Given the description of an element on the screen output the (x, y) to click on. 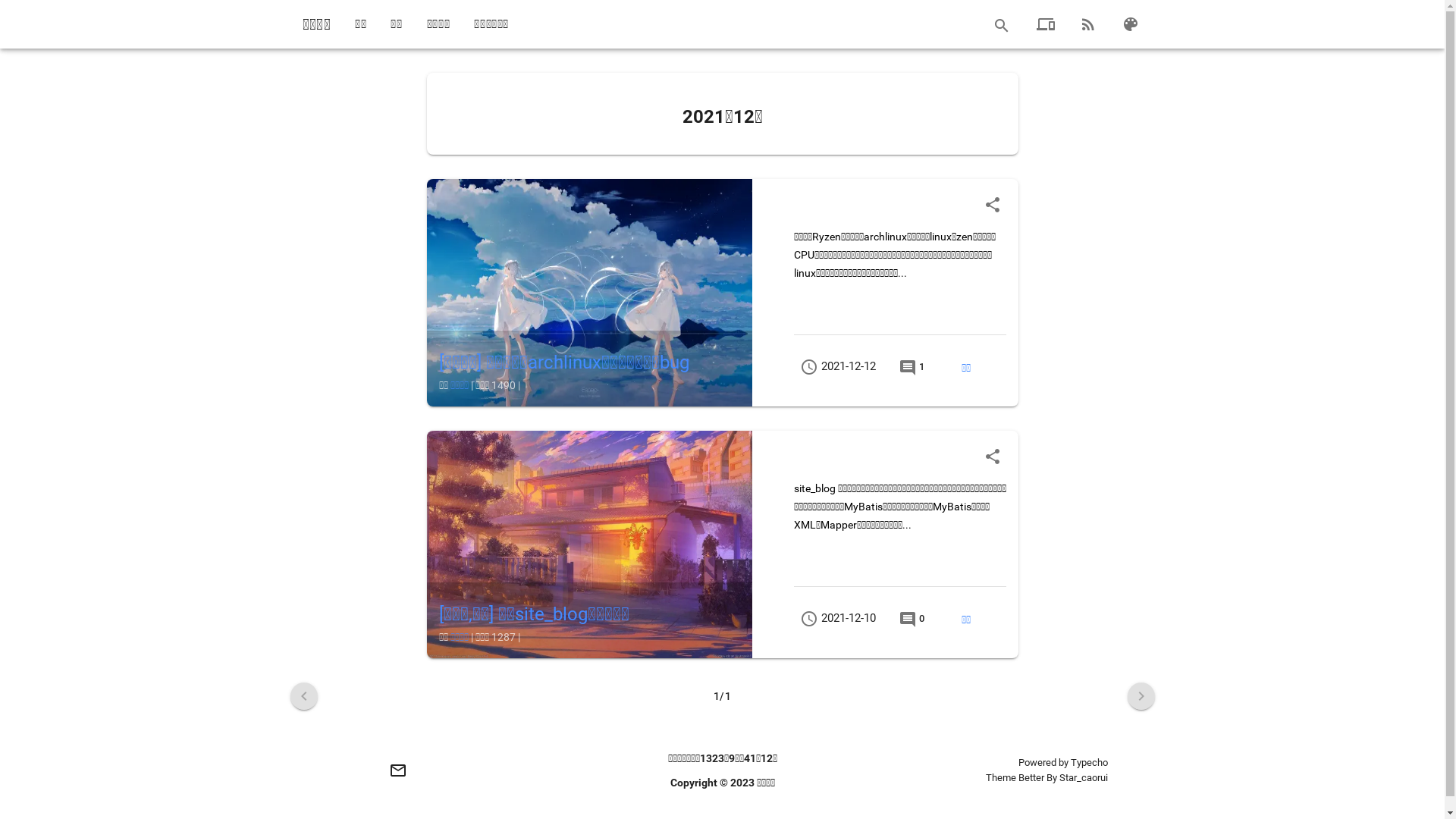
color_lens Element type: text (1129, 24)
navigate_next Element type: text (1140, 695)
share Element type: text (991, 456)
comment 1 Element type: text (911, 366)
Typecho Element type: text (1088, 762)
Star_caorui Element type: text (1082, 777)
search Element type: text (1000, 25)
rss_feed Element type: text (1087, 24)
share Element type: text (991, 204)
navigate_before Element type: text (302, 695)
Better Element type: text (1030, 777)
devices Element type: text (1044, 24)
1/1 Element type: text (721, 695)
comment 0 Element type: text (911, 618)
mail_outline Element type: text (397, 770)
